Given the description of an element on the screen output the (x, y) to click on. 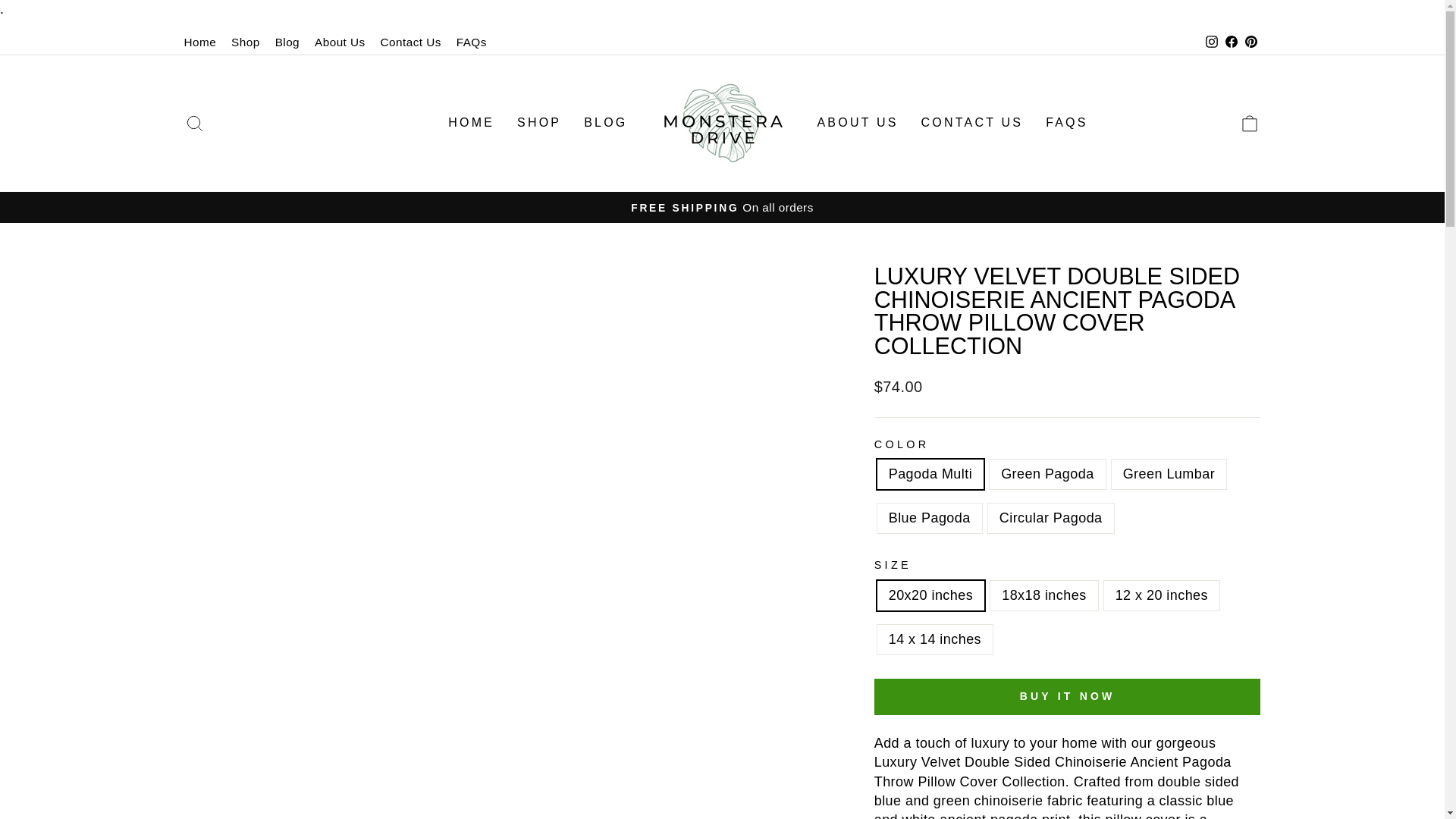
Home (200, 42)
Monstera Drive on Pinterest (1250, 42)
Shop (245, 42)
FAQs (471, 42)
Contact Us (410, 42)
Monstera Drive on Instagram (1211, 42)
Monstera Drive on Facebook (1230, 42)
About Us (339, 42)
